Given the description of an element on the screen output the (x, y) to click on. 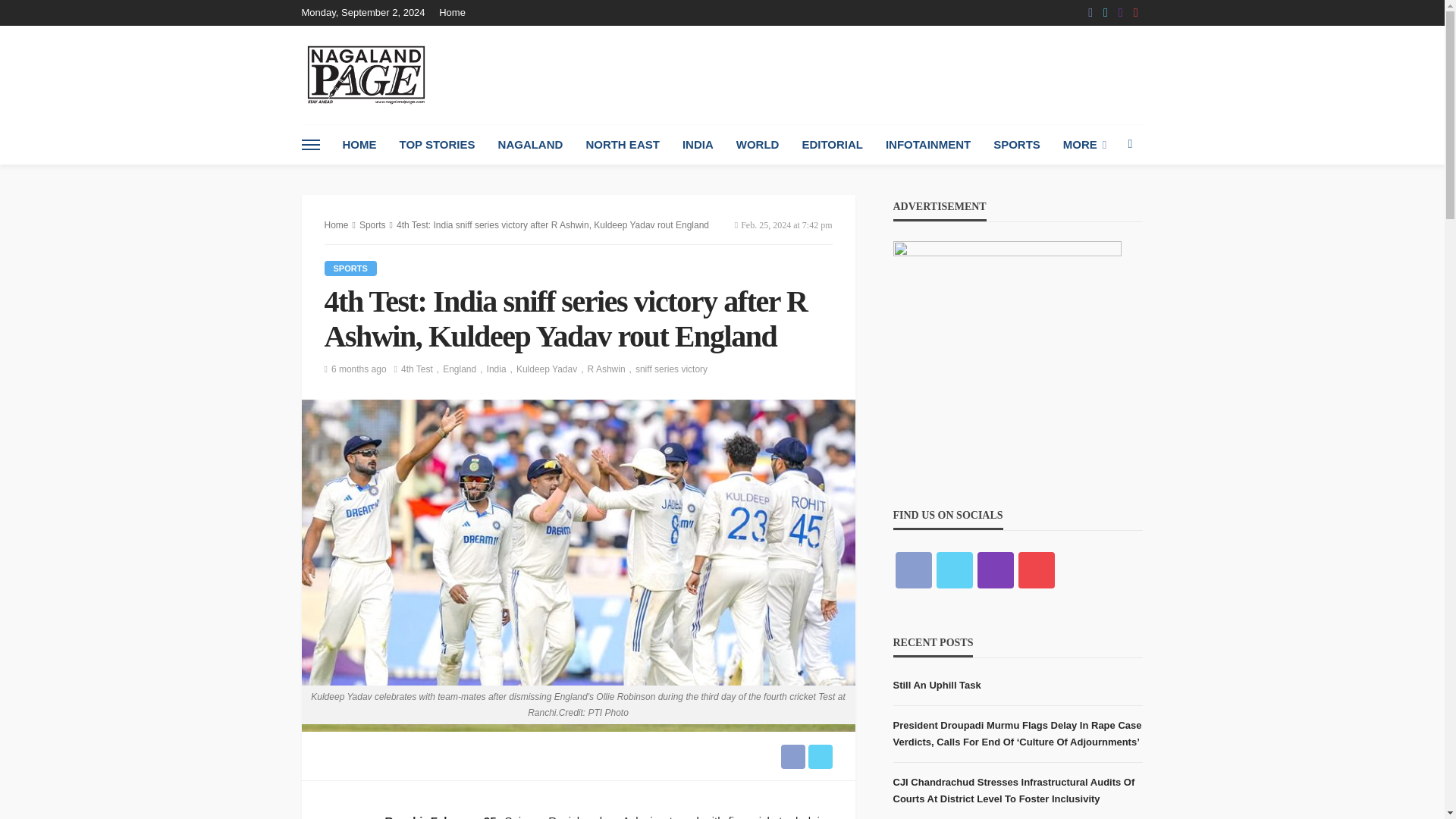
nagaland-page-logo (365, 74)
EDITORIAL (832, 144)
TOP STORIES (437, 144)
INFOTAINMENT (928, 144)
WORLD (757, 144)
NAGALAND (530, 144)
Home (456, 12)
Sports (350, 268)
SPORTS (1016, 144)
MORE (1084, 144)
